Given the description of an element on the screen output the (x, y) to click on. 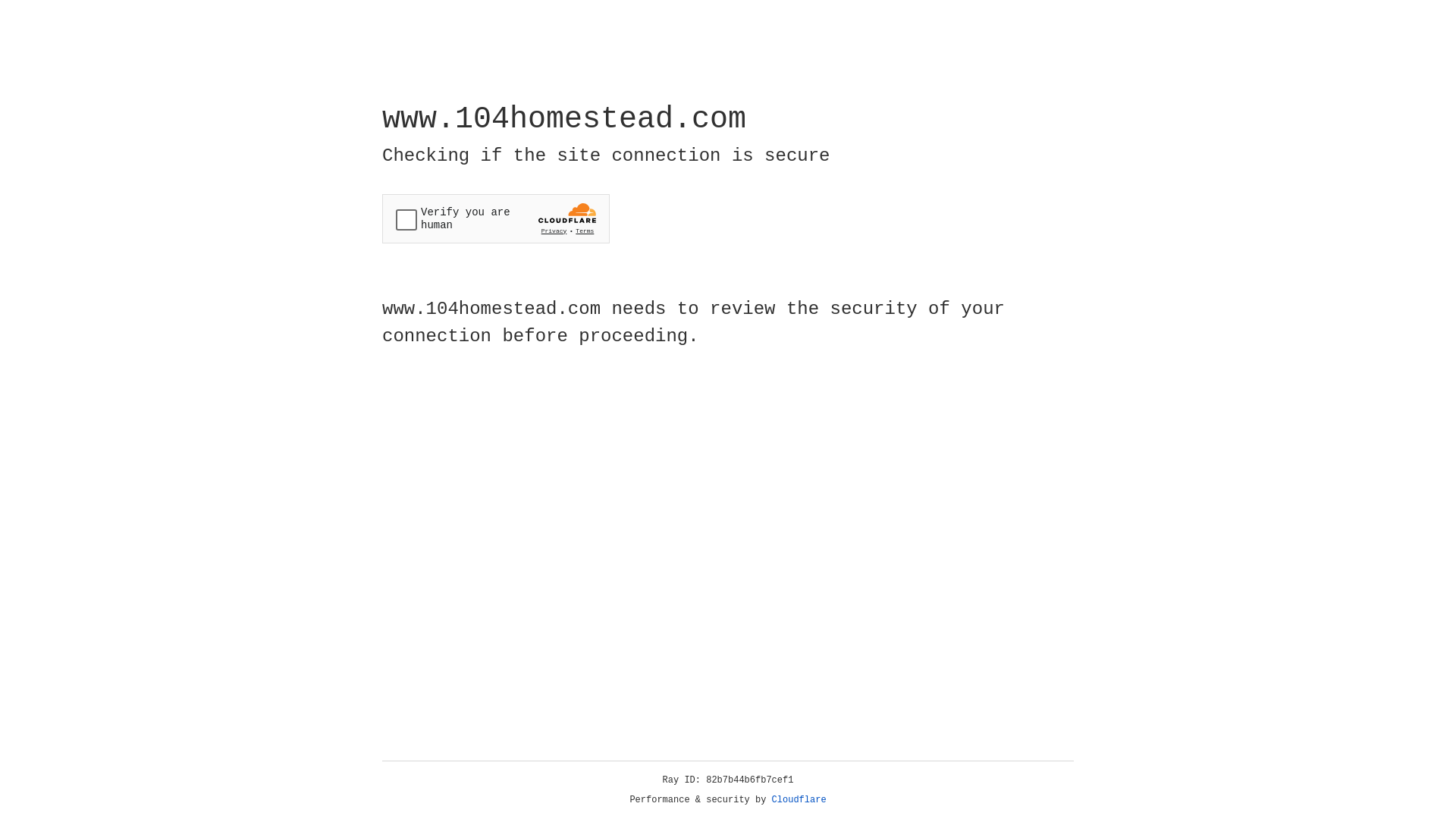
Cloudflare Element type: text (798, 799)
Widget containing a Cloudflare security challenge Element type: hover (495, 218)
